Given the description of an element on the screen output the (x, y) to click on. 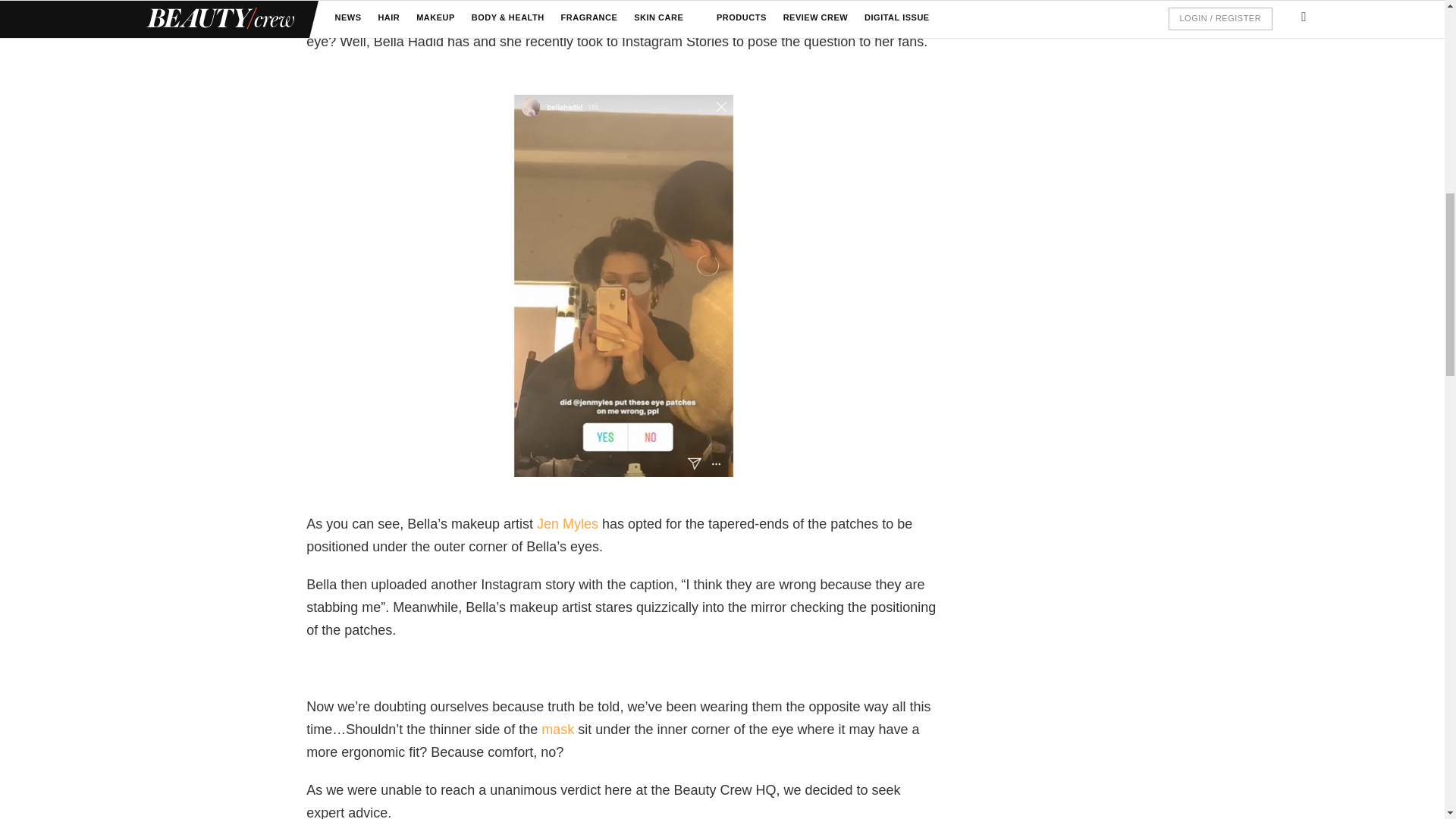
Instagram (569, 523)
Beauty Crew (557, 729)
